Given the description of an element on the screen output the (x, y) to click on. 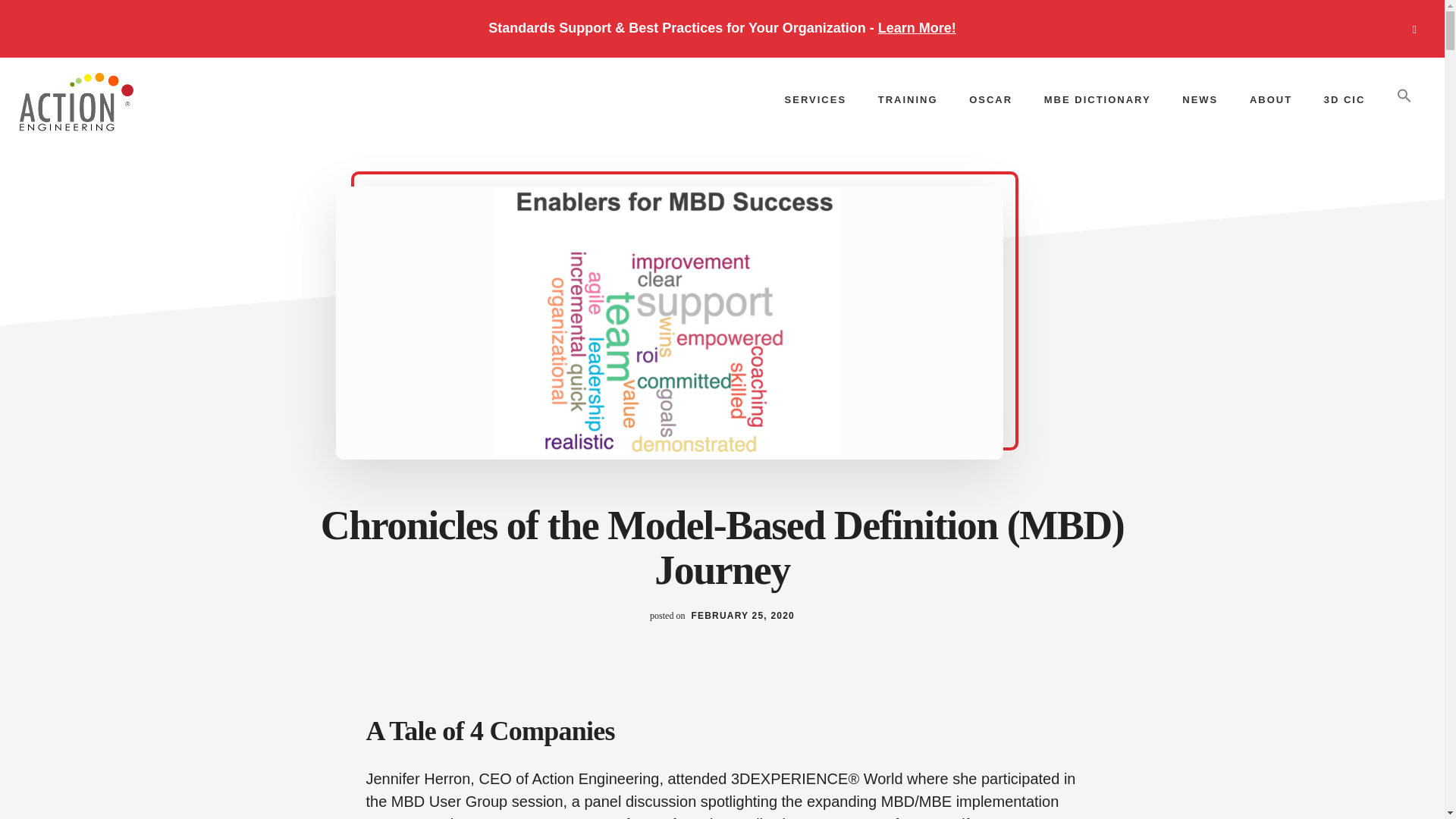
TRAINING (908, 99)
MBE DICTIONARY (1097, 99)
ABOUT (1271, 99)
SERVICES (815, 99)
OSCAR (990, 99)
Learn More! (916, 28)
3D CIC (1344, 99)
NEWS (1200, 99)
ACTION ENGINEERING (132, 102)
